Given the description of an element on the screen output the (x, y) to click on. 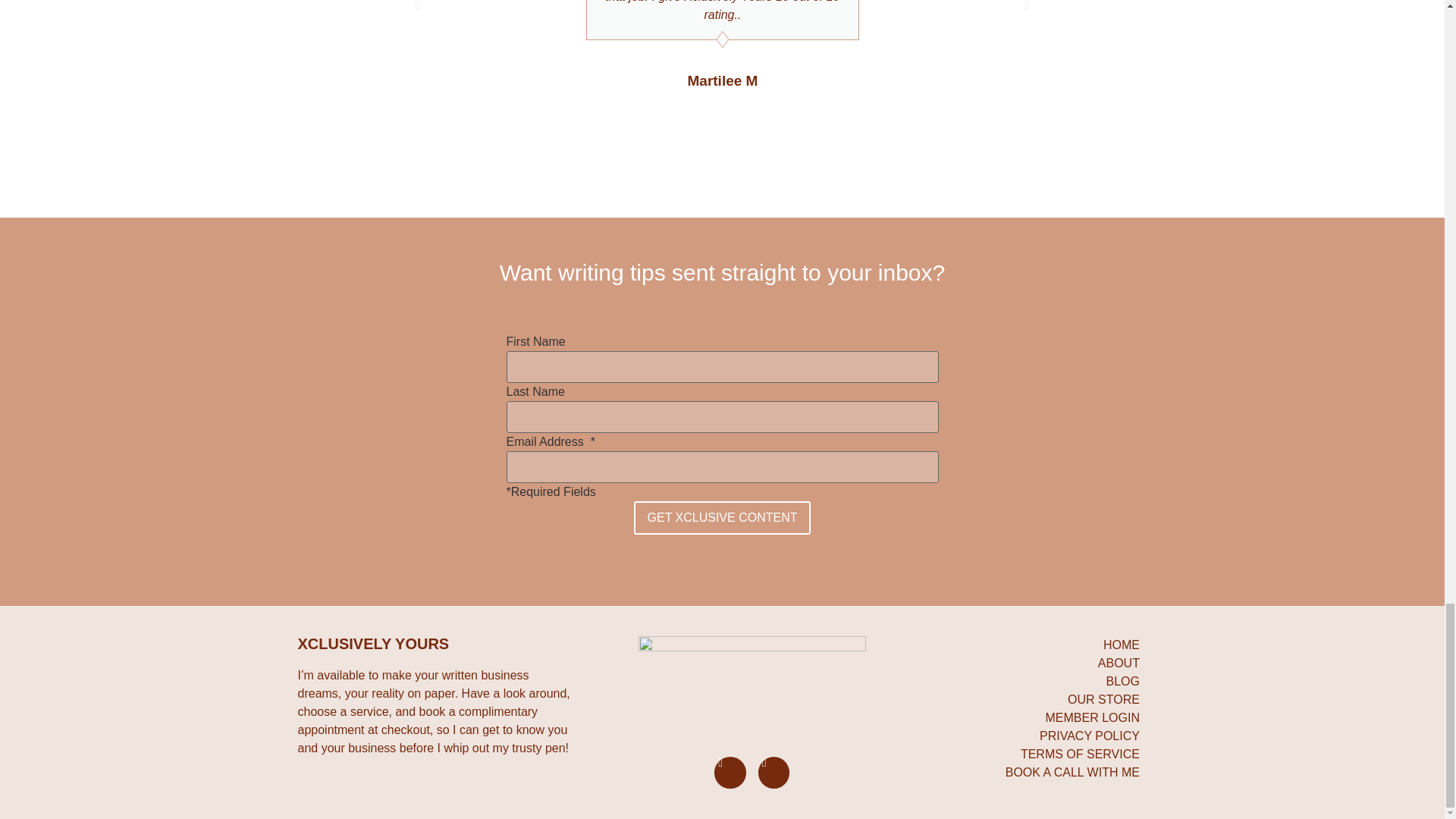
OUR STORE (1036, 700)
MEMBER LOGIN (1036, 718)
HOME (1036, 645)
TERMS OF SERVICE (1036, 754)
BLOG (1036, 681)
GET XCLUSIVE CONTENT (721, 517)
PRIVACY POLICY (1036, 736)
ABOUT (1036, 663)
BOOK A CALL WITH ME (1036, 772)
